Given the description of an element on the screen output the (x, y) to click on. 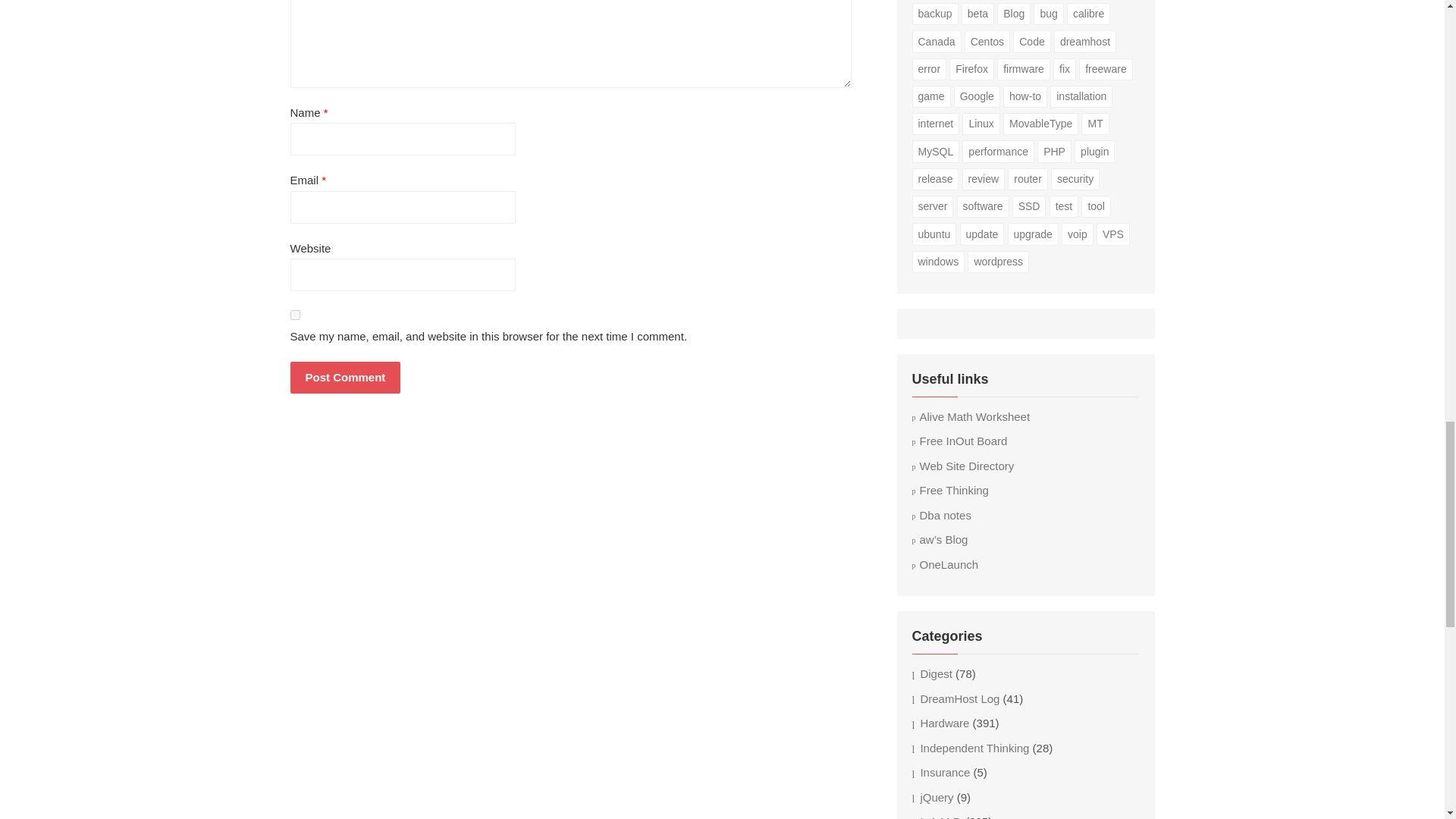
Post Comment (344, 377)
yes (294, 315)
